Given the description of an element on the screen output the (x, y) to click on. 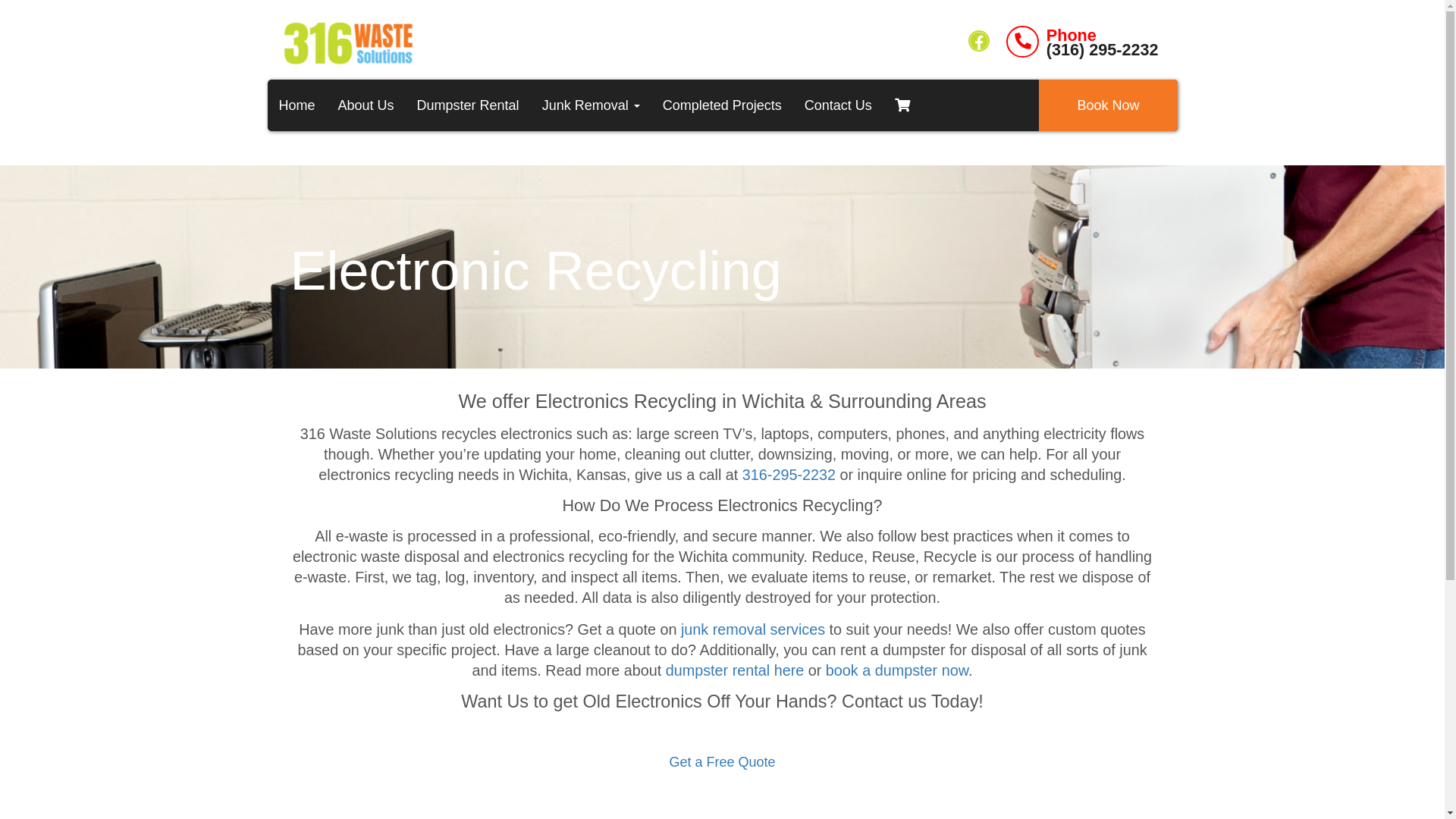
dumpster rental here Element type: text (734, 670)
Completed Projects Element type: text (722, 105)
book a dumpster now Element type: text (896, 670)
Phone Element type: text (1102, 35)
About Us Element type: text (365, 105)
Phone
(316) 295-2232 Element type: text (1081, 41)
Home Element type: text (296, 105)
junk removal services Element type: text (752, 629)
Contact Us Element type: text (838, 105)
Get a Free Quote Element type: text (721, 761)
316-295-2232 Element type: text (788, 474)
Dumpster Rental Element type: text (467, 105)
Junk Removal Element type: text (590, 105)
316 Waste Solutions Facebook Element type: hover (978, 40)
Book Now Element type: text (1107, 105)
